Given the description of an element on the screen output the (x, y) to click on. 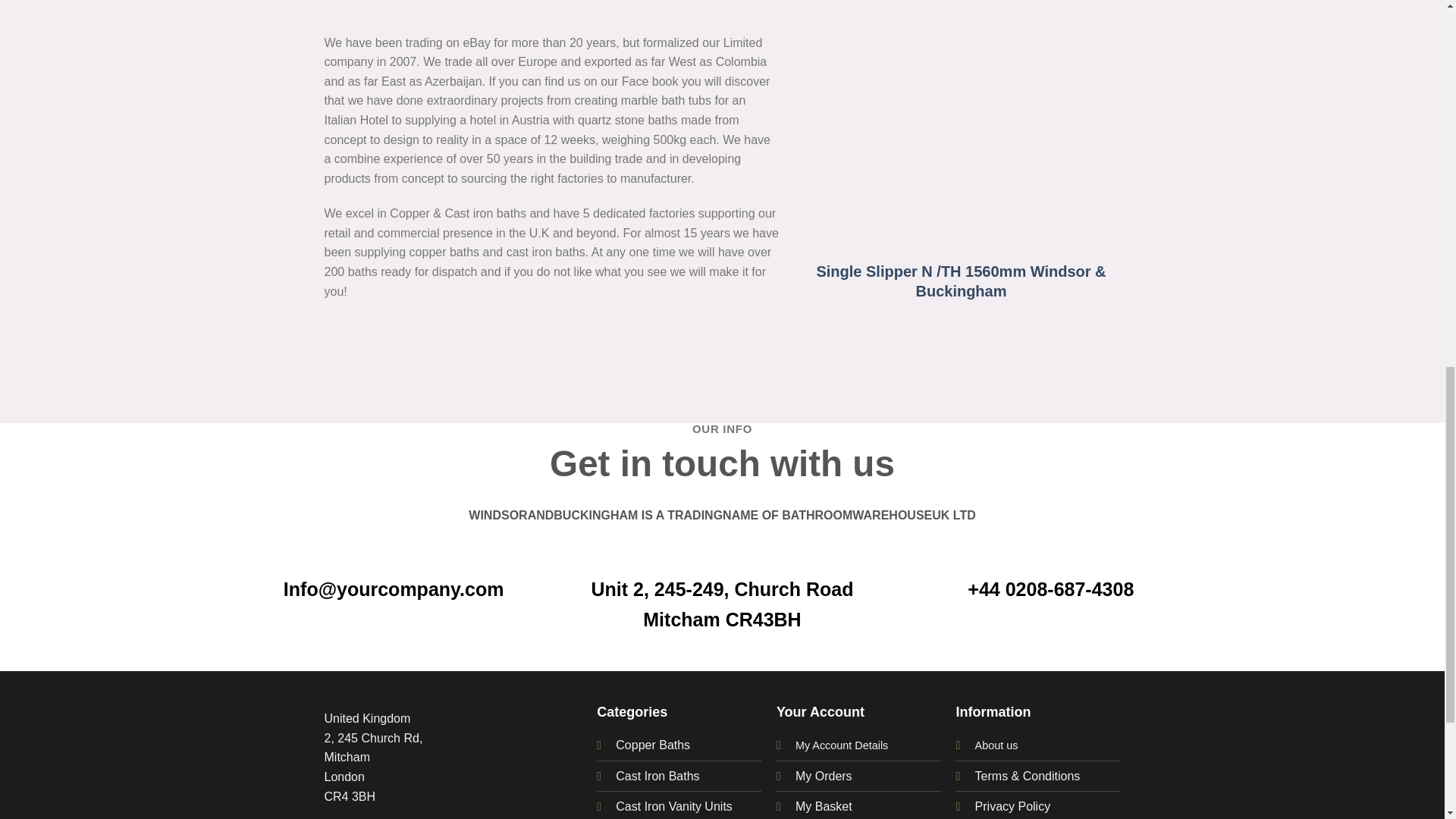
My Orders (822, 775)
My Basket (822, 806)
My Account Details (841, 744)
About us (996, 744)
Cast Iron Baths (656, 775)
Copper Baths (652, 744)
Cast Iron Vanity Units (673, 806)
